Given the description of an element on the screen output the (x, y) to click on. 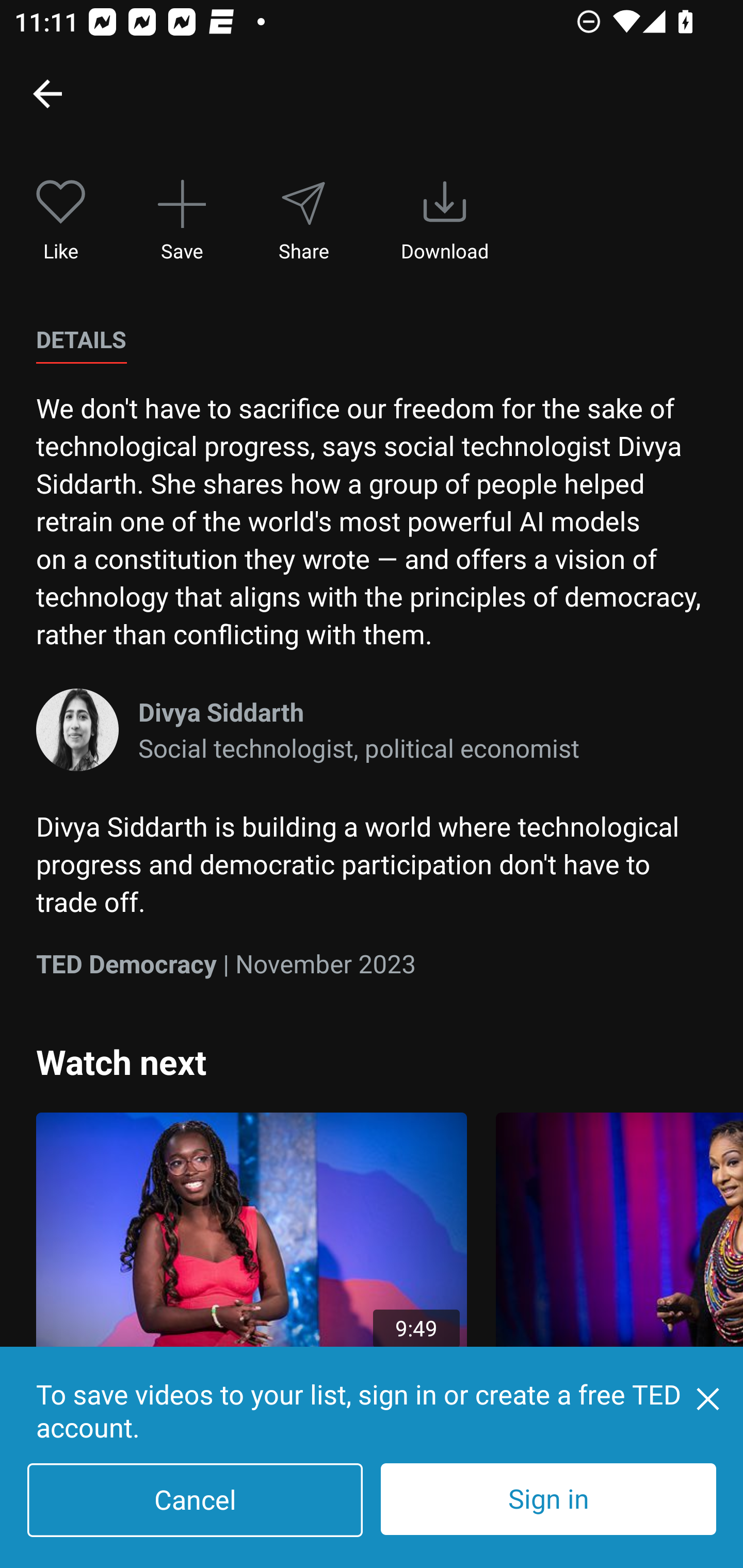
Home, back (47, 92)
Like (60, 220)
Save (181, 220)
Share (302, 220)
Download (444, 220)
DETAILS (80, 339)
 Is technology our savior — or our slayer? (619, 1275)
Cancel (194, 1499)
Sign in (548, 1498)
